Given the description of an element on the screen output the (x, y) to click on. 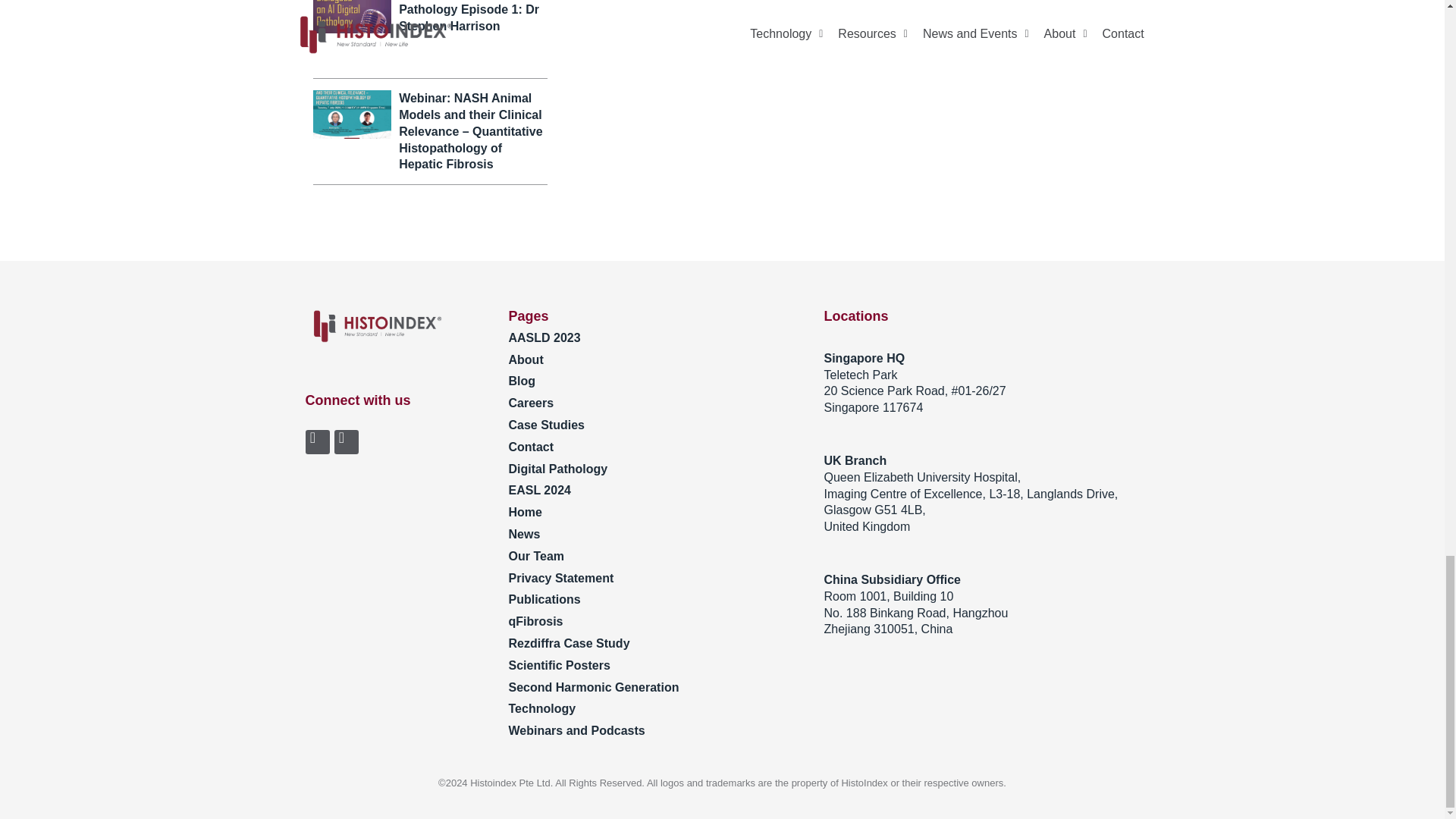
histoindex-podcast - HistoIndex (351, 16)
